Given the description of an element on the screen output the (x, y) to click on. 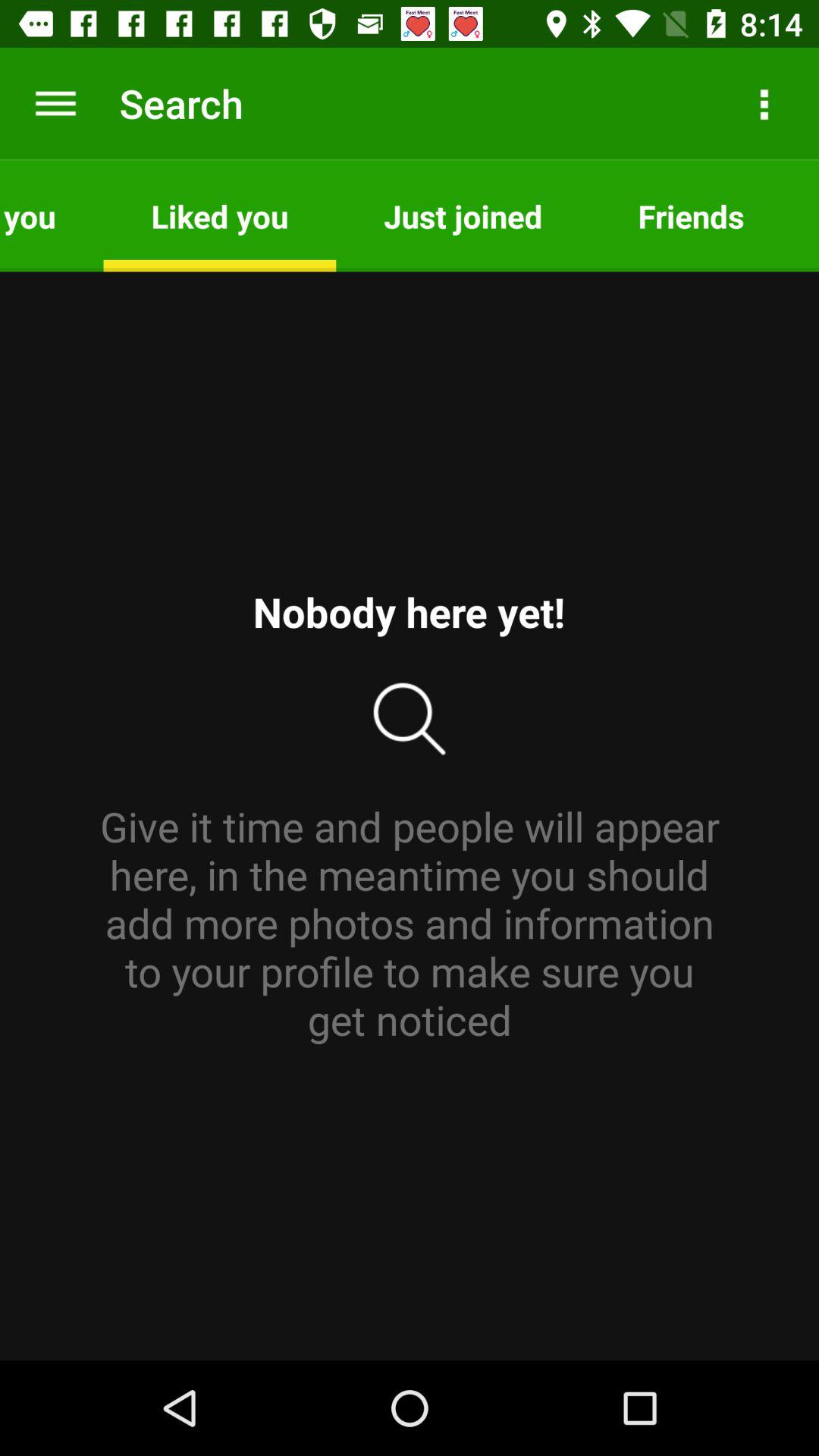
tap the app to the left of the favorites item (691, 215)
